Given the description of an element on the screen output the (x, y) to click on. 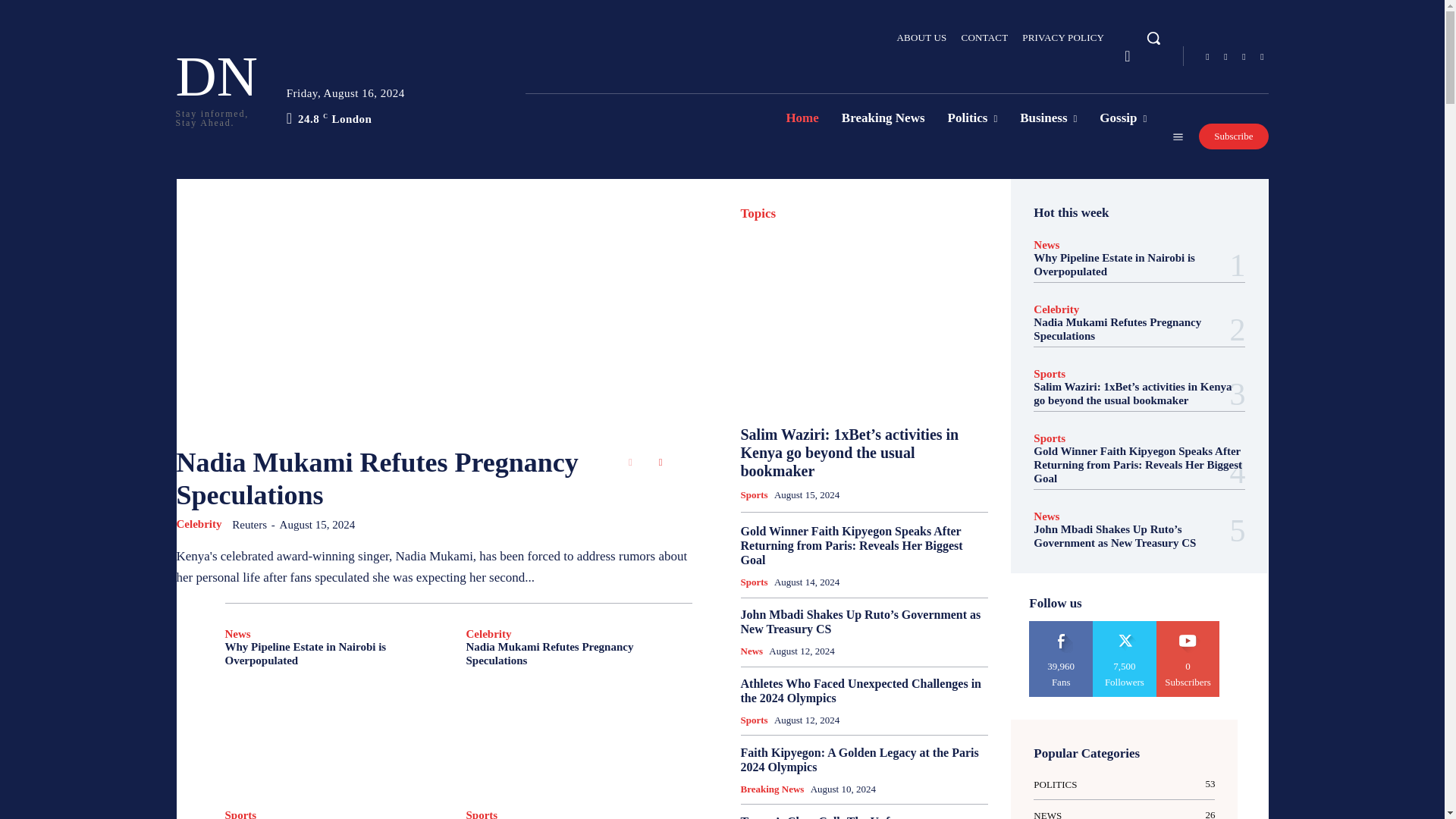
Facebook (1206, 56)
Twitter (1243, 56)
PRIVACY POLICY (1062, 37)
ABOUT US (922, 37)
Instagram (1224, 56)
CONTACT (984, 37)
Youtube (1261, 56)
